Given the description of an element on the screen output the (x, y) to click on. 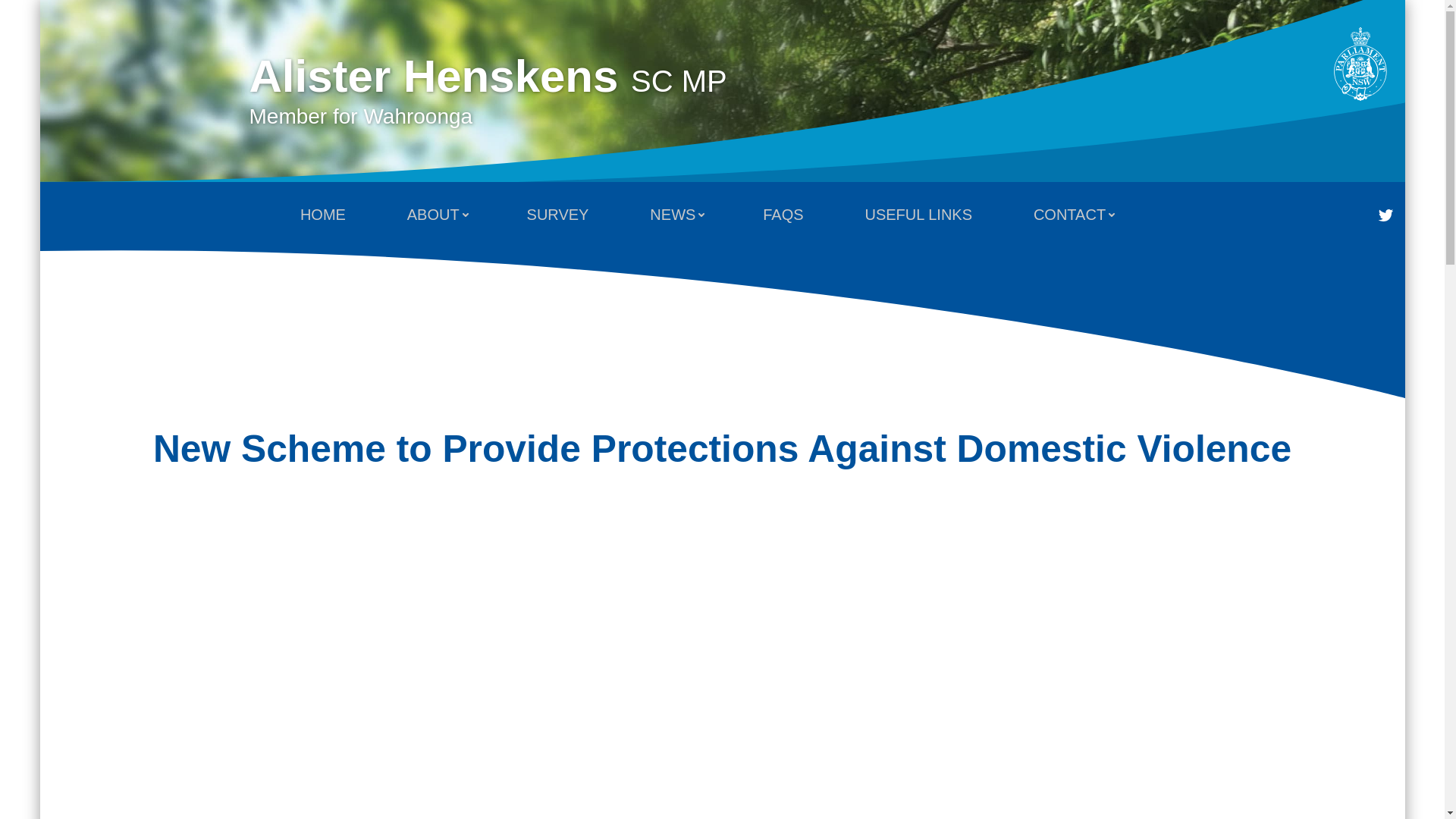
NEWS (675, 214)
Go to the Home page (487, 89)
Go to Alister Henskens' Twitter account (487, 89)
Frequently asked questions (1389, 215)
CONTACT (783, 214)
Find out more about Alister and the Ku-ring-gai electorate (1073, 214)
Local survey for the Ku-ring-gai electorate (435, 214)
HOME (558, 214)
